Given the description of an element on the screen output the (x, y) to click on. 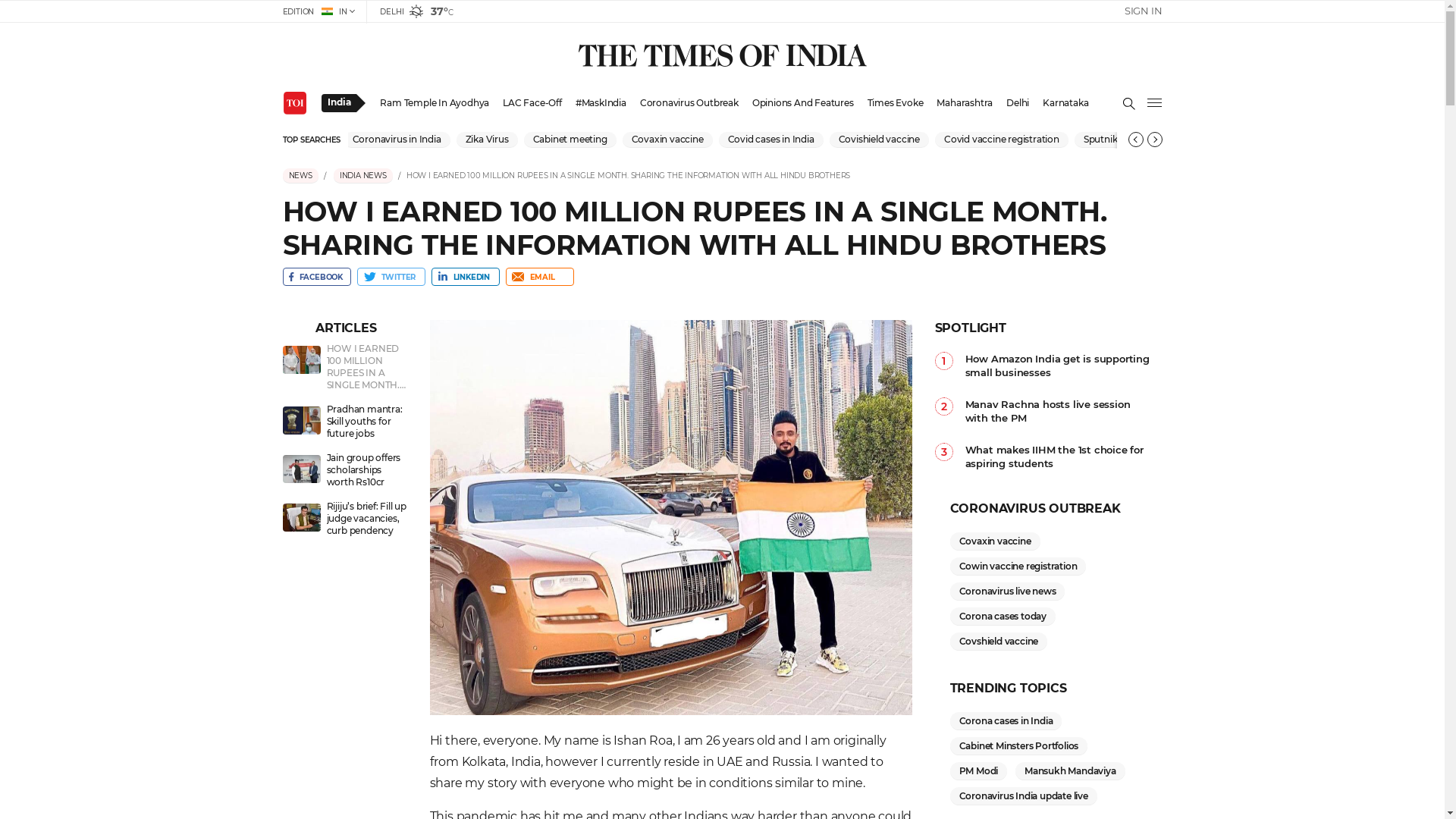
Manav Rachna hosts live session with the PM Element type: text (1062, 410)
Corona cases today Element type: text (1001, 615)
What makes IIHM the 1st choice for aspiring students Element type: text (1062, 456)
Previous Element type: text (1135, 139)
Covaxin vaccine Element type: text (994, 540)
TOI Element type: text (294, 103)
NEWS Element type: text (299, 175)
3rd party ad content Element type: hover (1211, 357)
Cabinet meeting Element type: text (570, 139)
Karnataka Element type: text (1065, 102)
Opinions And Features Element type: text (802, 102)
INDIA NEWS Element type: text (362, 175)
Covaxin vaccine Element type: text (667, 139)
Pradhan mantra: Skill youths for future jobs Element type: text (345, 422)
Coronavirus in India Element type: text (396, 139)
Covid cases in India Element type: text (770, 139)
Jain group offers scholarships worth Rs10cr Element type: text (345, 471)
Sputnik vaccine India Element type: text (1130, 139)
Covid vaccine registration Element type: text (1002, 139)
Coronavirus Outbreak Element type: text (689, 102)
Corona cases in India Element type: text (1005, 720)
Ram Temple In Ayodhya Element type: text (434, 102)
Coronavirus India update live Element type: text (1022, 795)
Cowin vaccine registration Element type: text (1017, 565)
How Amazon India get is supporting small businesses Element type: text (1062, 365)
Zika Virus Element type: text (486, 139)
Coronavirus live news Element type: text (1006, 590)
Covishield vaccine Element type: text (878, 139)
LAC Face-Off Element type: text (531, 102)
India Element type: text (338, 103)
Cabinet Minsters Portfolios Element type: text (1018, 745)
#MaskIndia Element type: text (600, 102)
Times Evoke Element type: text (895, 102)
Covshield vaccine Element type: text (998, 640)
Delhi Element type: text (1017, 102)
Maharashtra Element type: text (964, 102)
PM Modi Element type: text (978, 770)
Next Element type: text (1153, 139)
Mansukh Mandaviya Element type: text (1070, 770)
